Given the description of an element on the screen output the (x, y) to click on. 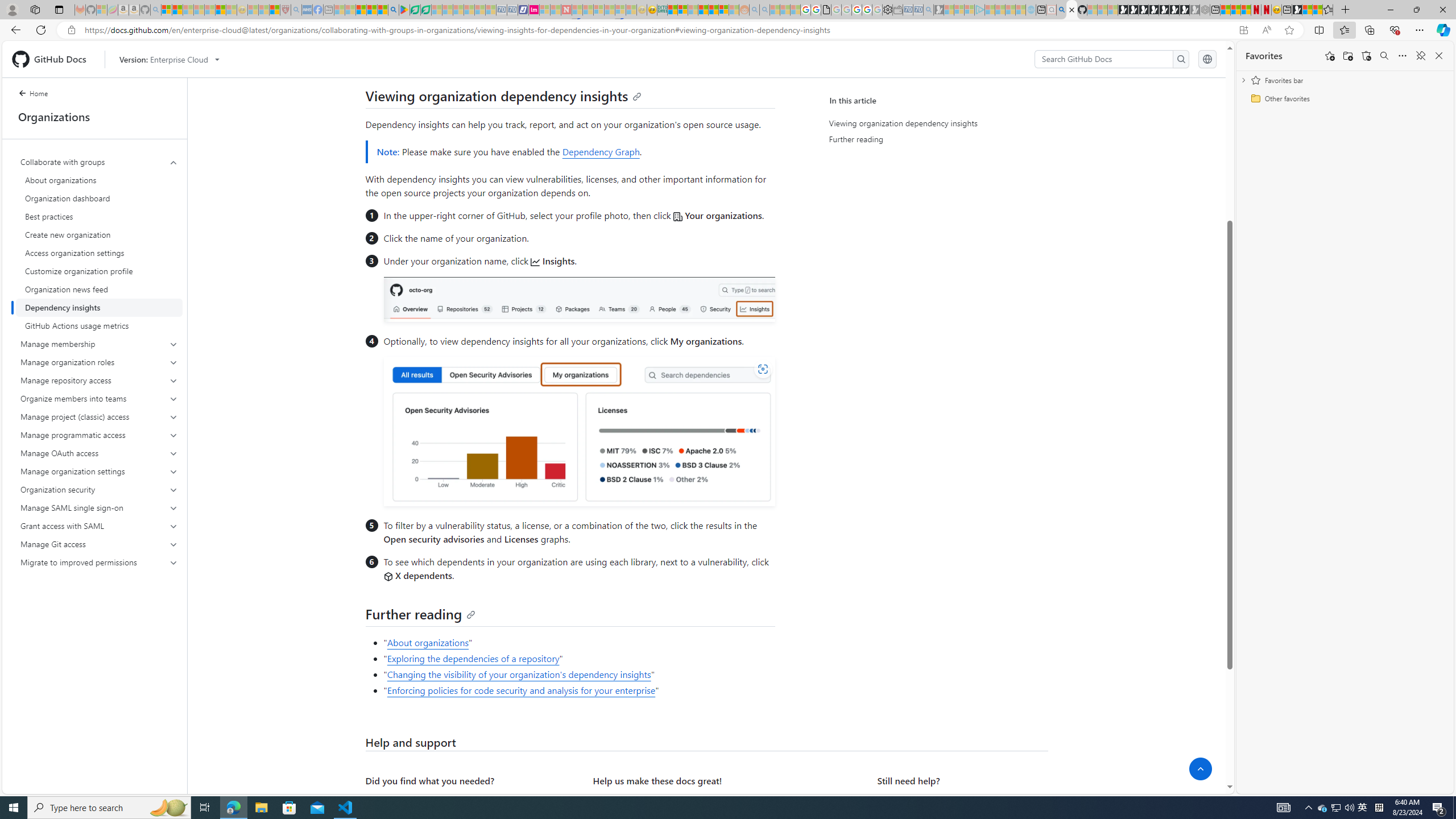
Create new organization (99, 235)
Organize members into teams (99, 398)
